Given the description of an element on the screen output the (x, y) to click on. 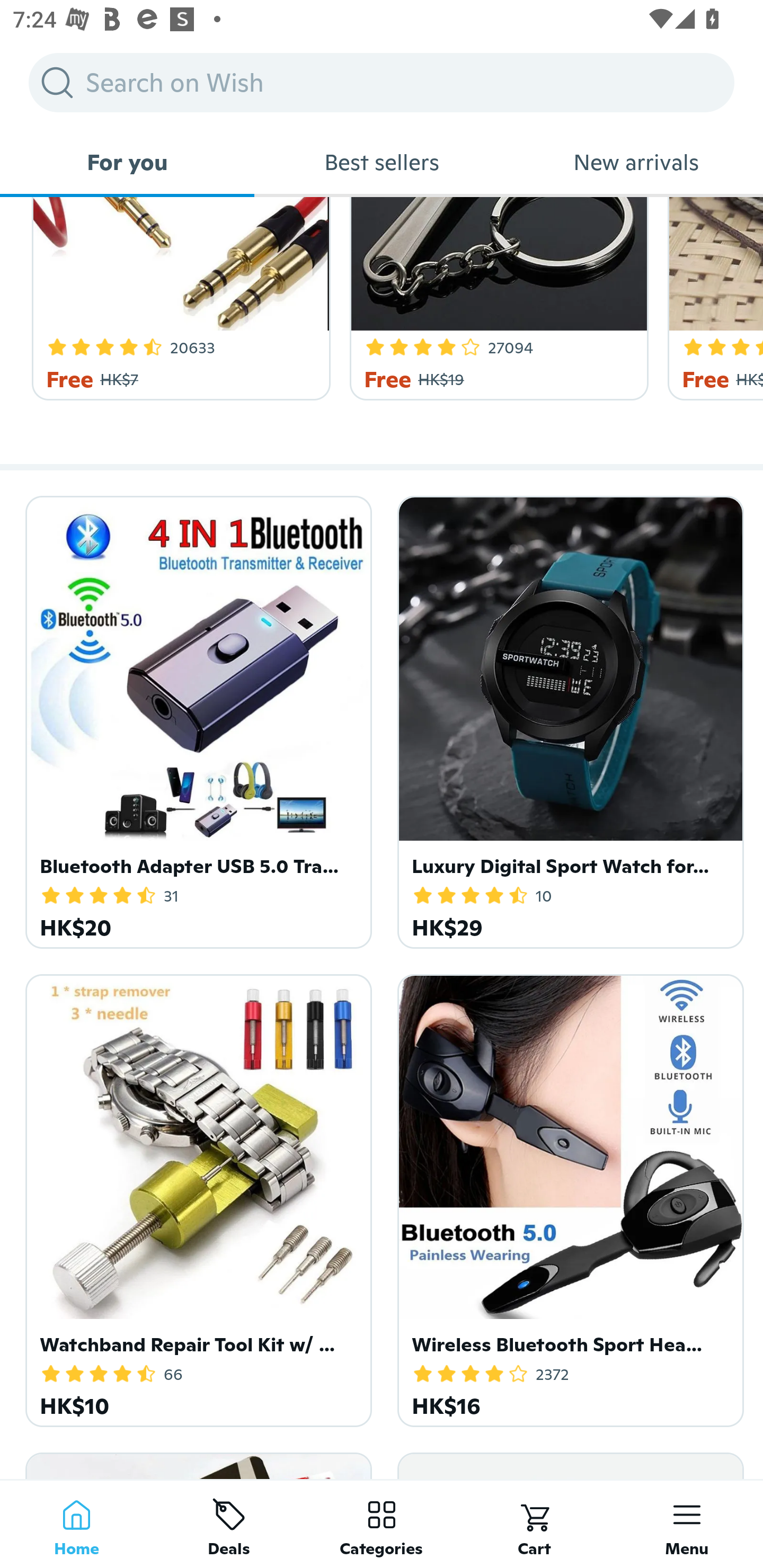
Search on Wish (381, 82)
For you (127, 161)
Best sellers (381, 161)
New arrivals (635, 161)
4.3 Star Rating 20633 Free HK$7 (177, 298)
4 Star Rating 27094 Free HK$19 (495, 298)
Home (76, 1523)
Deals (228, 1523)
Categories (381, 1523)
Cart (533, 1523)
Menu (686, 1523)
